Given the description of an element on the screen output the (x, y) to click on. 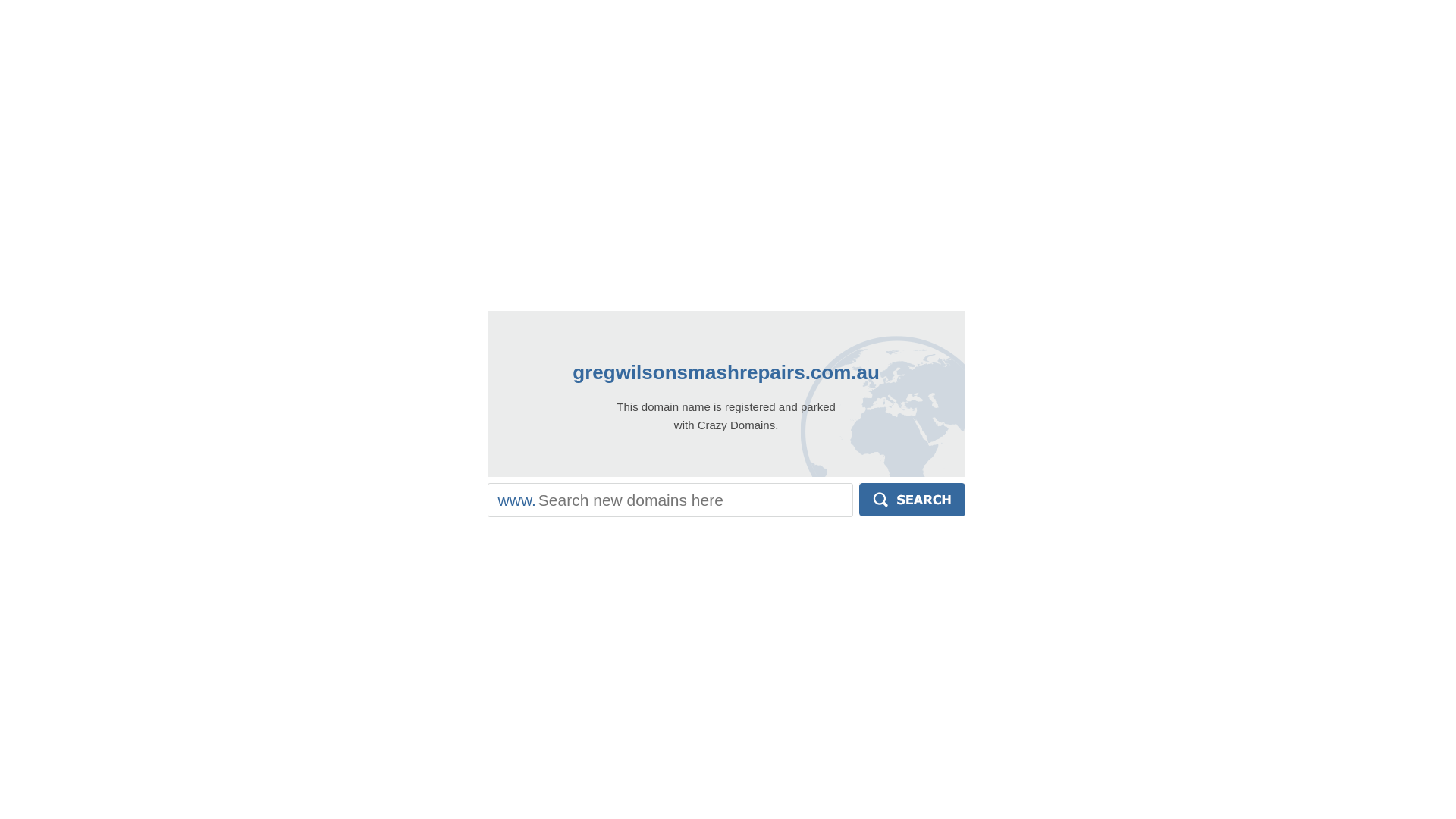
Search Element type: text (912, 499)
